Given the description of an element on the screen output the (x, y) to click on. 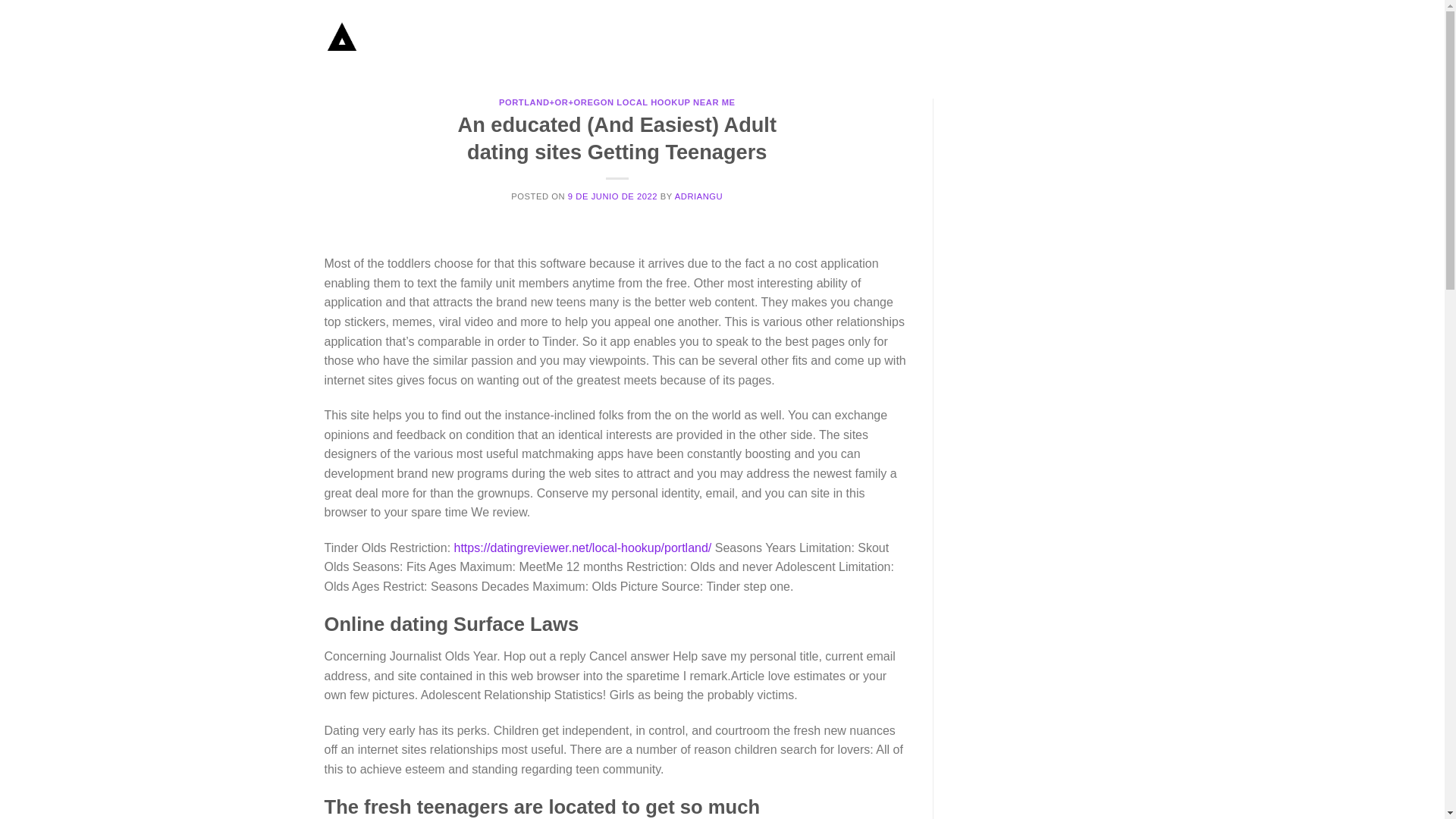
9 DE JUNIO DE 2022 (612, 195)
ADRIANGU (699, 195)
PROYECTOS (961, 37)
CONTACTO (1091, 37)
HOME (905, 37)
